Given the description of an element on the screen output the (x, y) to click on. 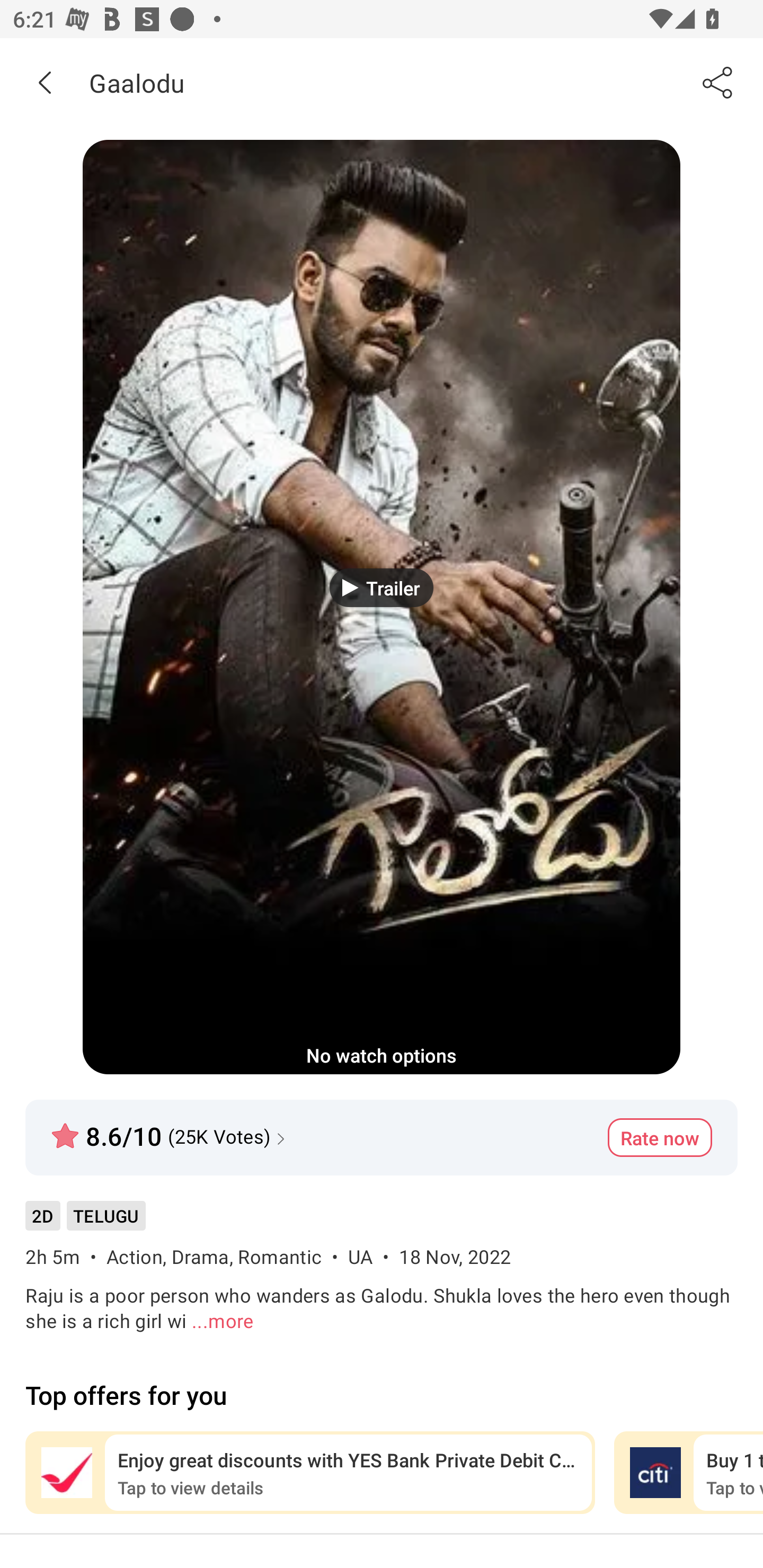
Back (44, 82)
Share (718, 82)
Movie Banner Trailer No watch options (381, 606)
Trailer (381, 586)
8.6/10 (25K Votes) (170, 1128)
Rate now (659, 1137)
2D TELUGU (85, 1222)
